Given the description of an element on the screen output the (x, y) to click on. 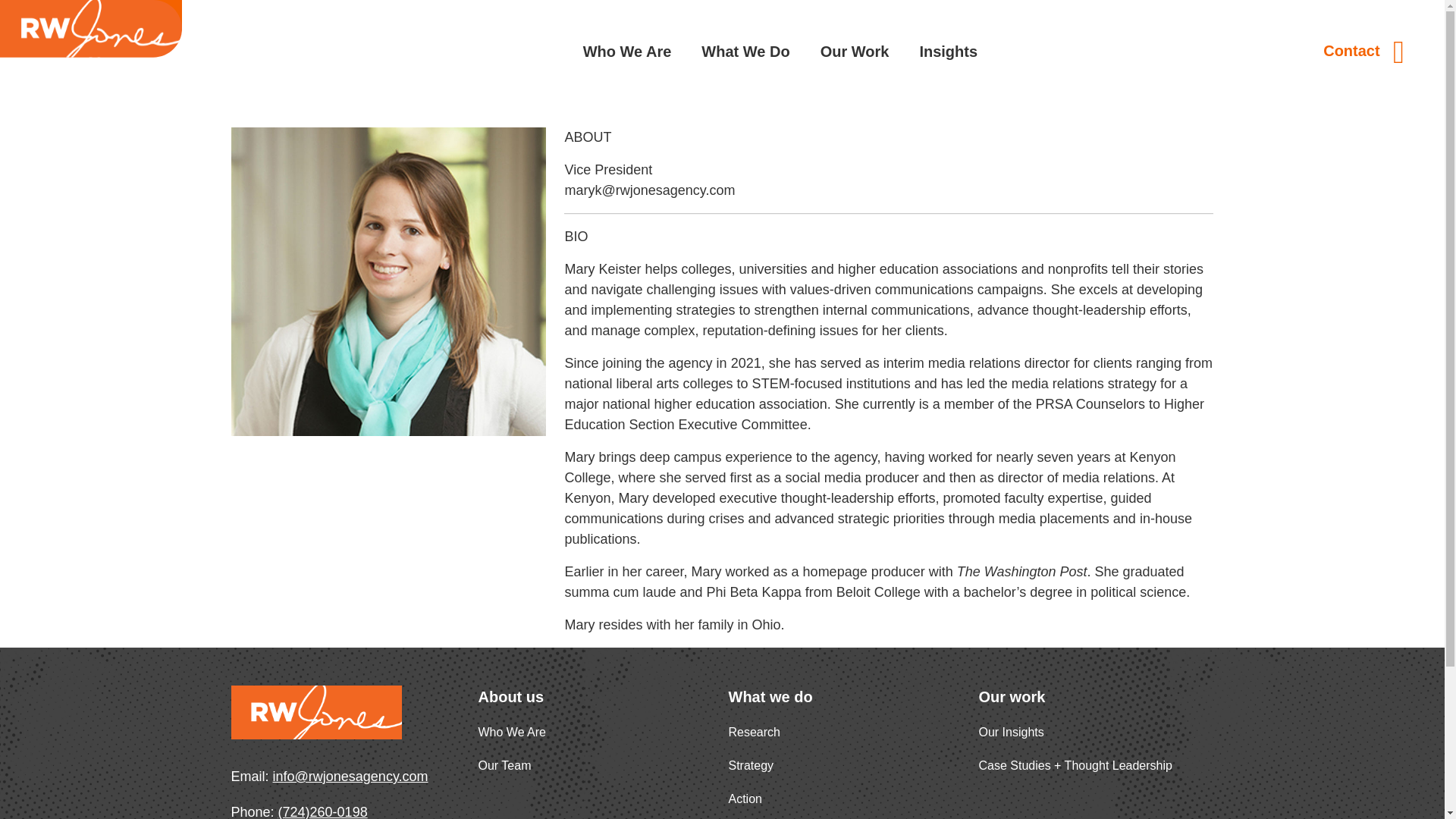
Our Team (504, 765)
Insights (947, 50)
Action (744, 798)
Research (753, 731)
Strategy (750, 765)
Who We Are (627, 50)
Who We Are (511, 731)
Our Work (855, 50)
What We Do (745, 50)
Contact (1364, 52)
Our Insights (1010, 731)
